Given the description of an element on the screen output the (x, y) to click on. 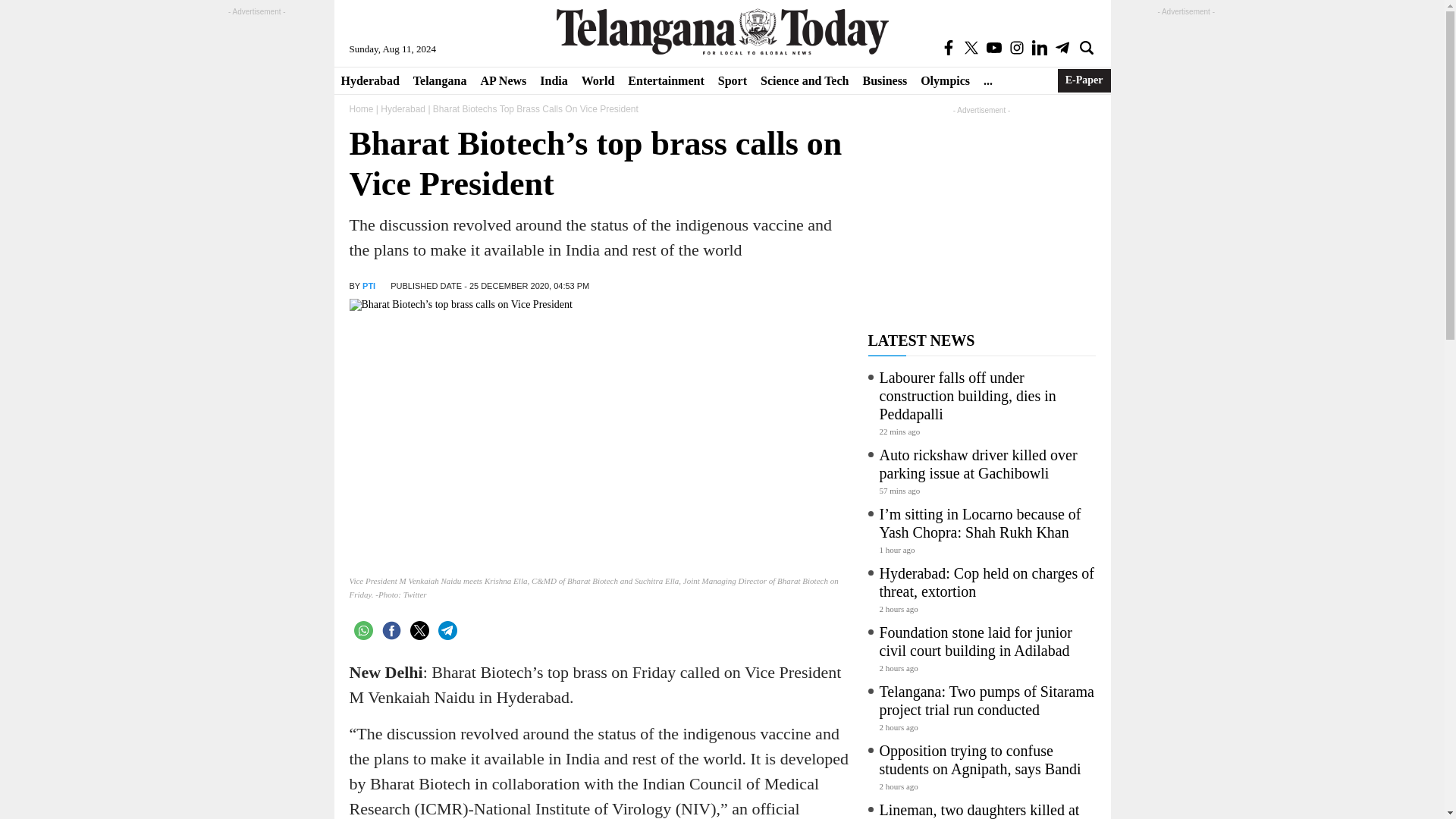
PTI (368, 285)
Hyderabad (369, 80)
Telangana (440, 80)
World (598, 80)
AP News (502, 80)
Business (885, 80)
India (552, 80)
AP News (502, 80)
Entertainment (665, 80)
Hyderabad (369, 80)
